Given the description of an element on the screen output the (x, y) to click on. 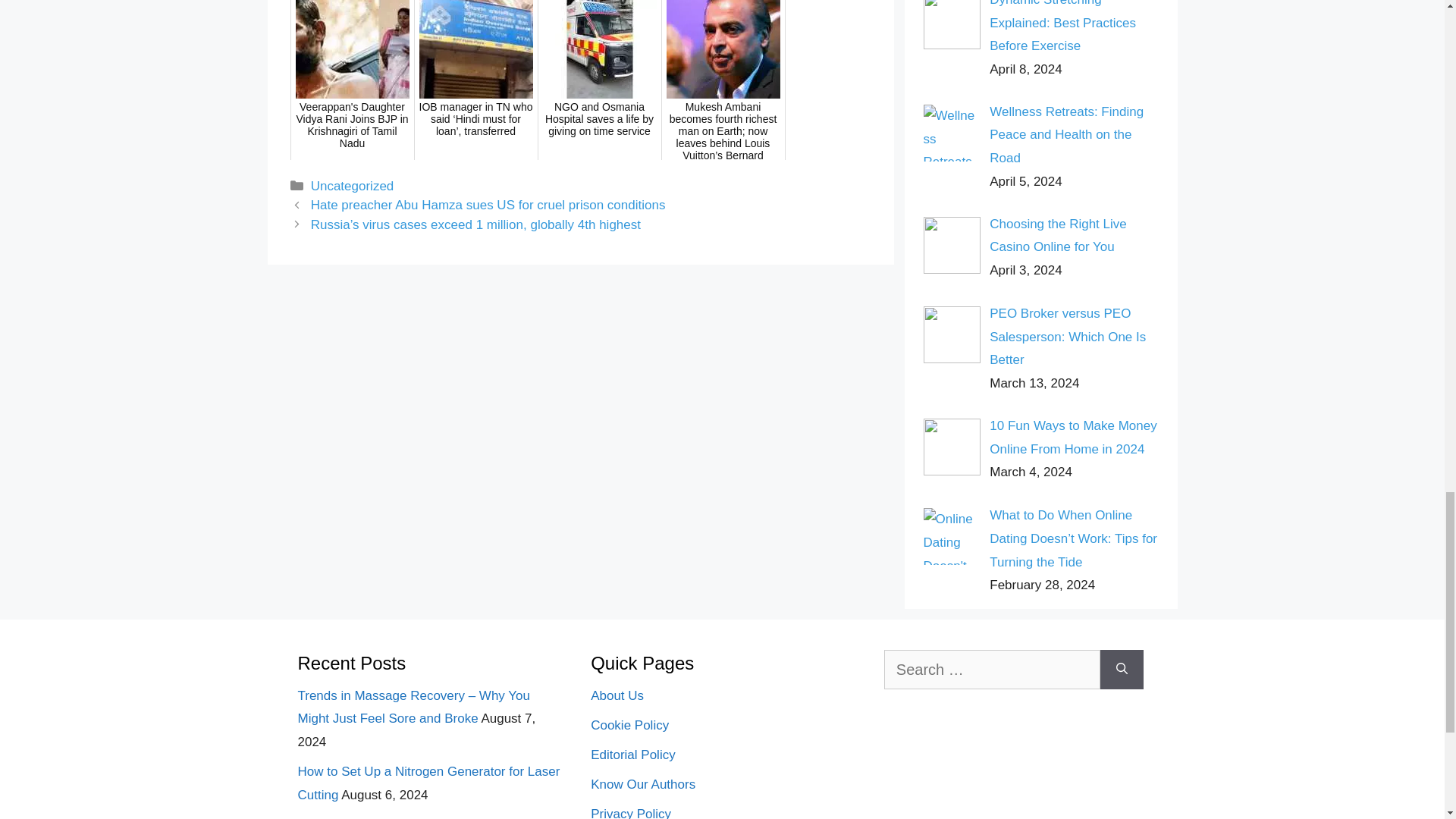
Search for: (991, 669)
Hate preacher Abu Hamza sues US for cruel prison conditions (488, 205)
Choosing the Right Live Casino Online for You (1058, 235)
Uncategorized (352, 186)
Wellness Retreats: Finding Peace and Health on the Road (1066, 134)
PEO Broker versus PEO Salesperson: Which One Is Better (1067, 336)
Dynamic Stretching Explained: Best Practices Before Exercise (1062, 26)
10 Fun Ways to Make Money Online From Home in 2024 (1073, 437)
